Given the description of an element on the screen output the (x, y) to click on. 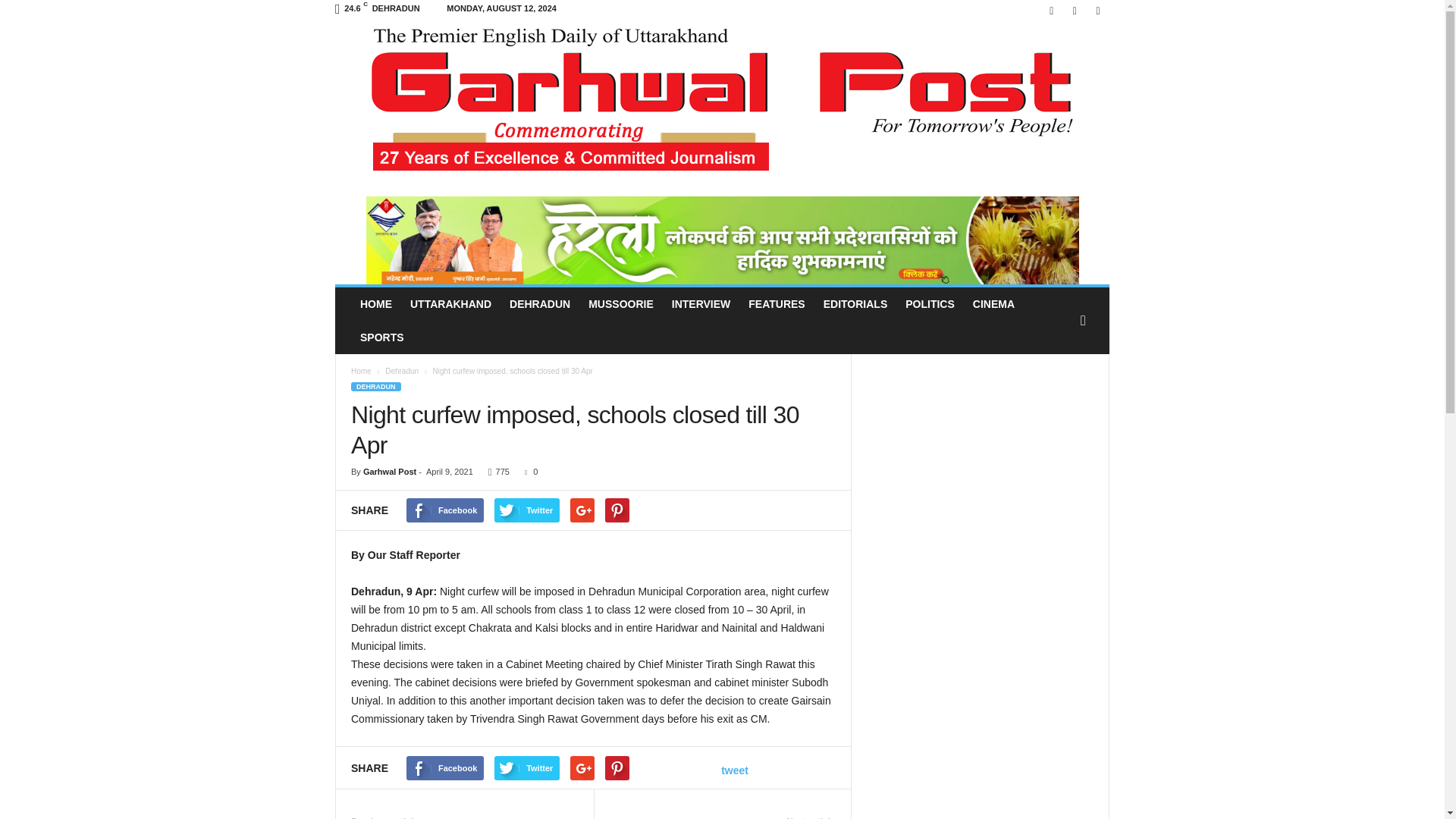
UTTARAKHAND (450, 304)
HOME (375, 304)
FEATURES (776, 304)
EDITORIALS (854, 304)
SPORTS (381, 337)
MUSSOORIE (620, 304)
CINEMA (993, 304)
DEHRADUN (539, 304)
Dehradun (402, 370)
